Given the description of an element on the screen output the (x, y) to click on. 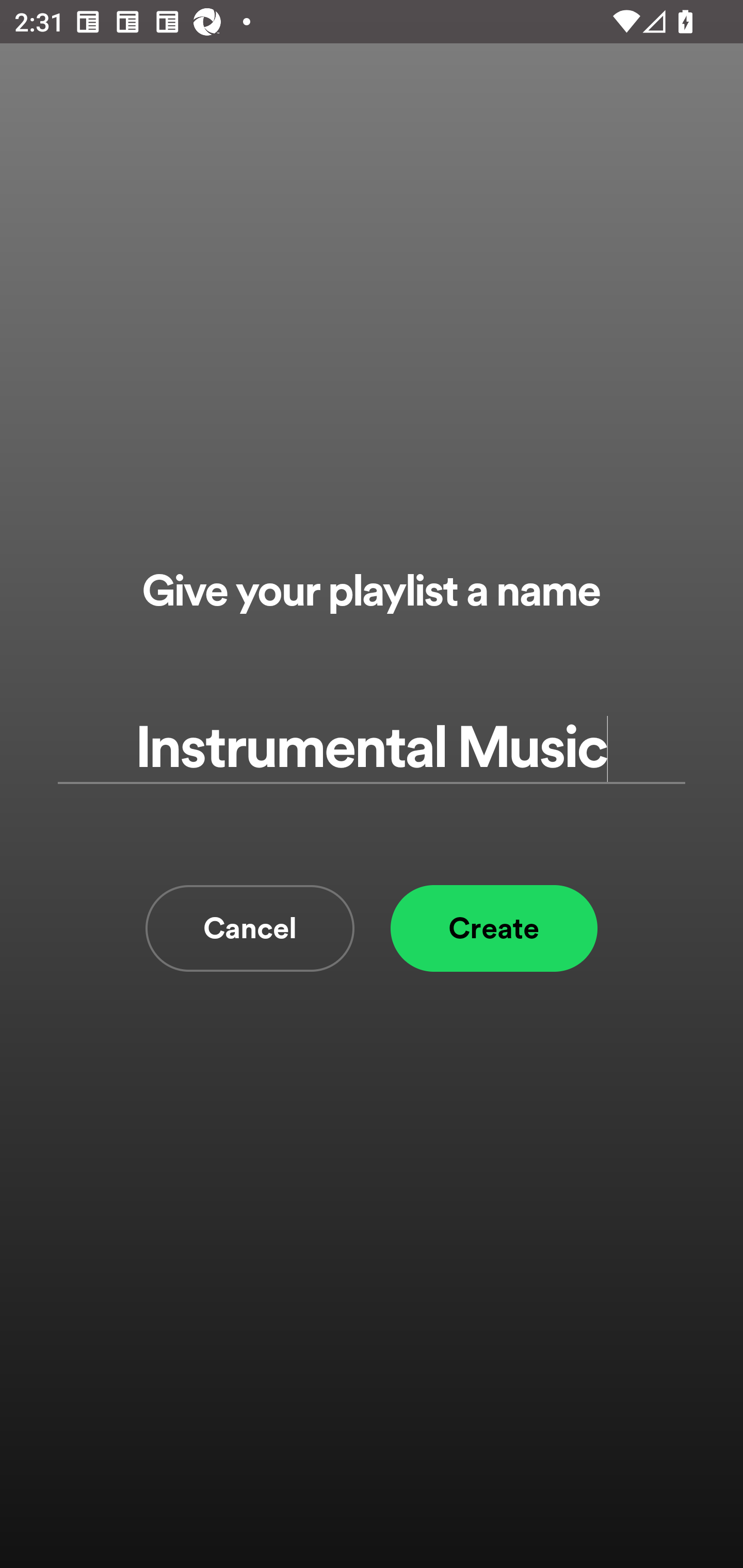
Instrumental Music Add a playlist name (371, 749)
Cancel (249, 928)
Create (493, 928)
